Given the description of an element on the screen output the (x, y) to click on. 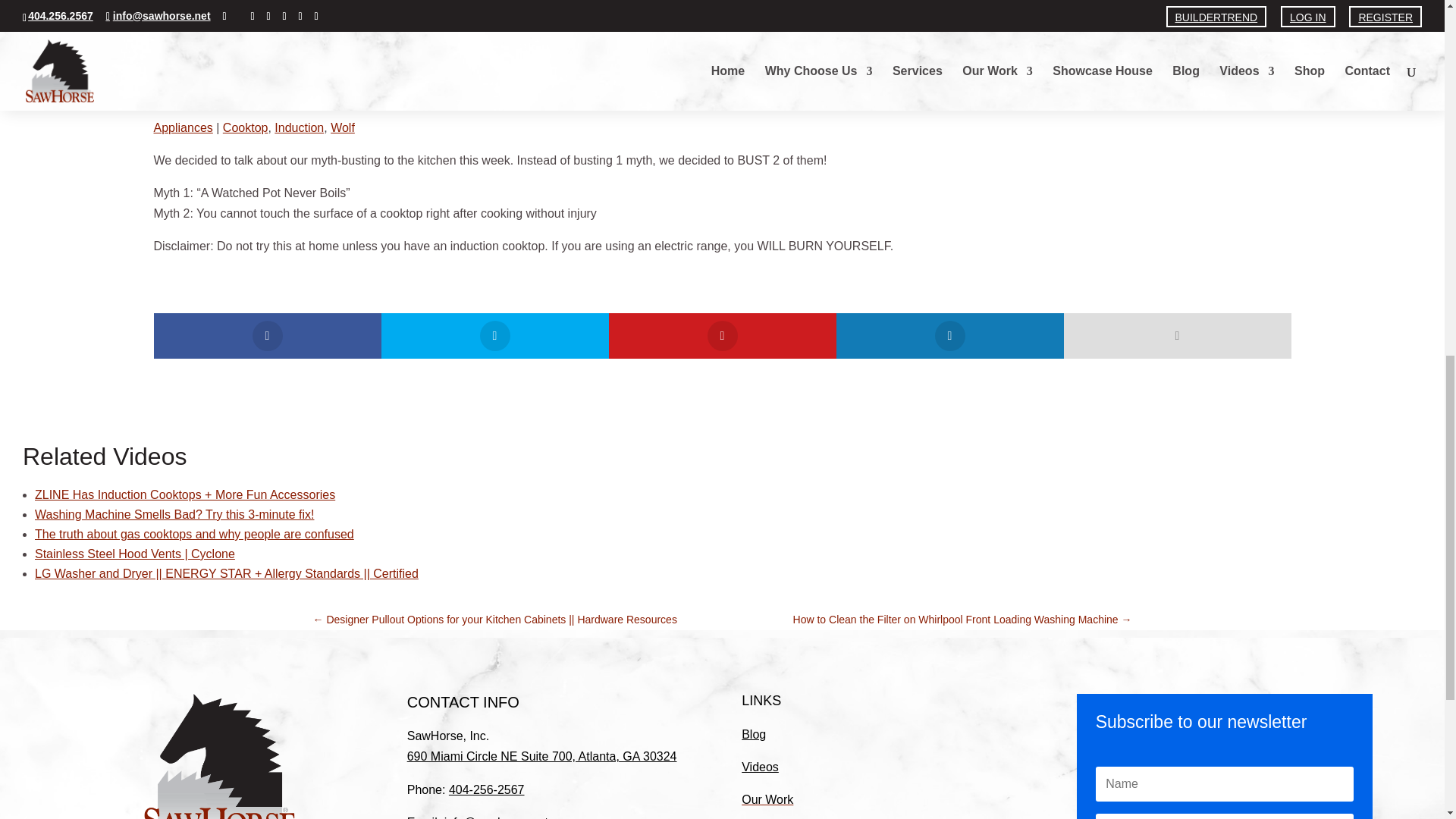
SawHorse Logo (219, 756)
SawHorse Office Location (542, 756)
